Given the description of an element on the screen output the (x, y) to click on. 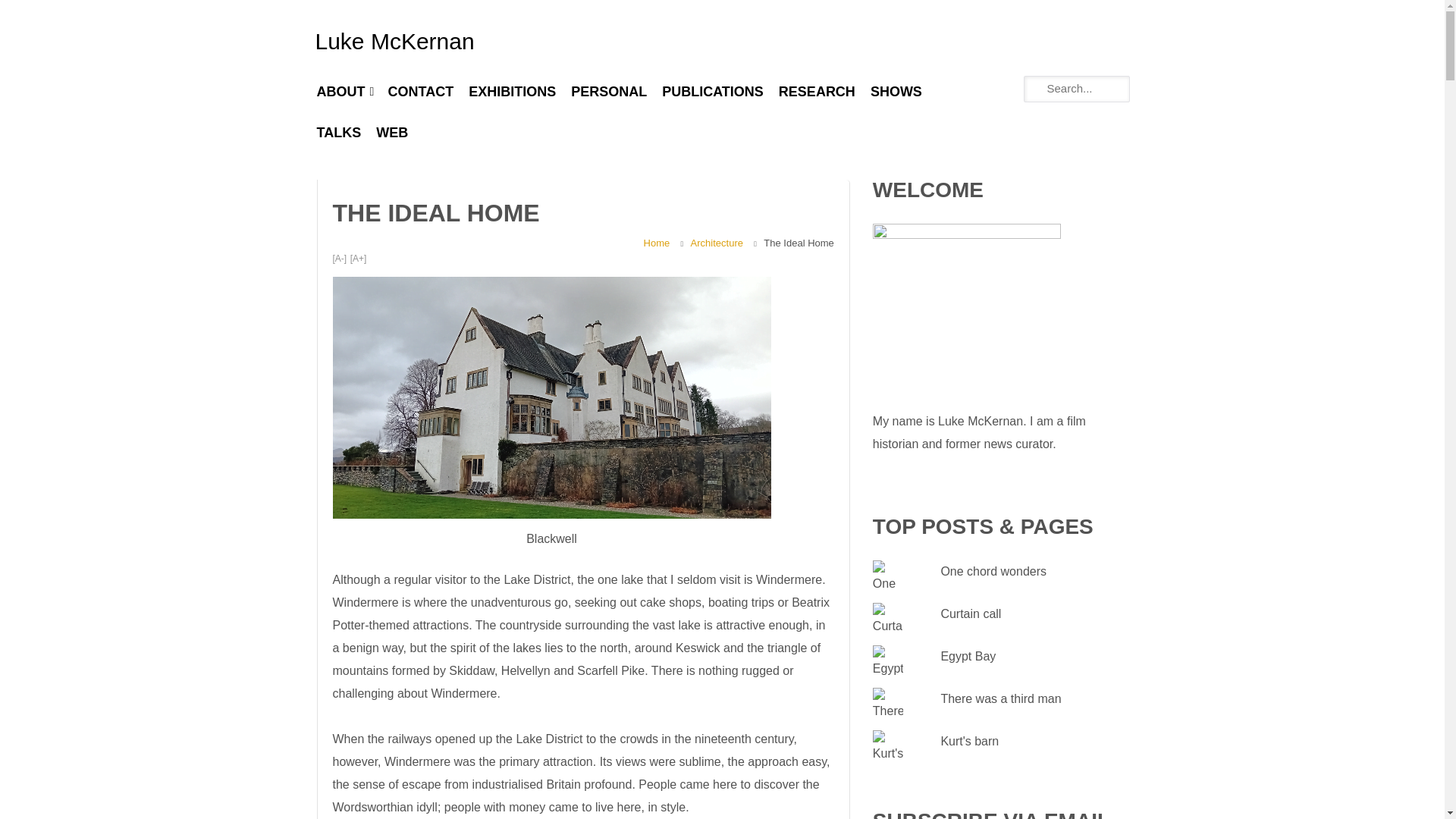
RESEARCH (817, 92)
Curtain call (970, 612)
Luke McKernan (394, 41)
EXHIBITIONS (512, 92)
Egypt Bay (967, 655)
WEB (391, 133)
CONTACT (420, 92)
SHOWS (896, 92)
TALKS (338, 133)
PERSONAL (608, 92)
Decrease Font Size (338, 258)
Home (656, 242)
PUBLICATIONS (712, 92)
Search (23, 12)
Architecture (716, 242)
